Given the description of an element on the screen output the (x, y) to click on. 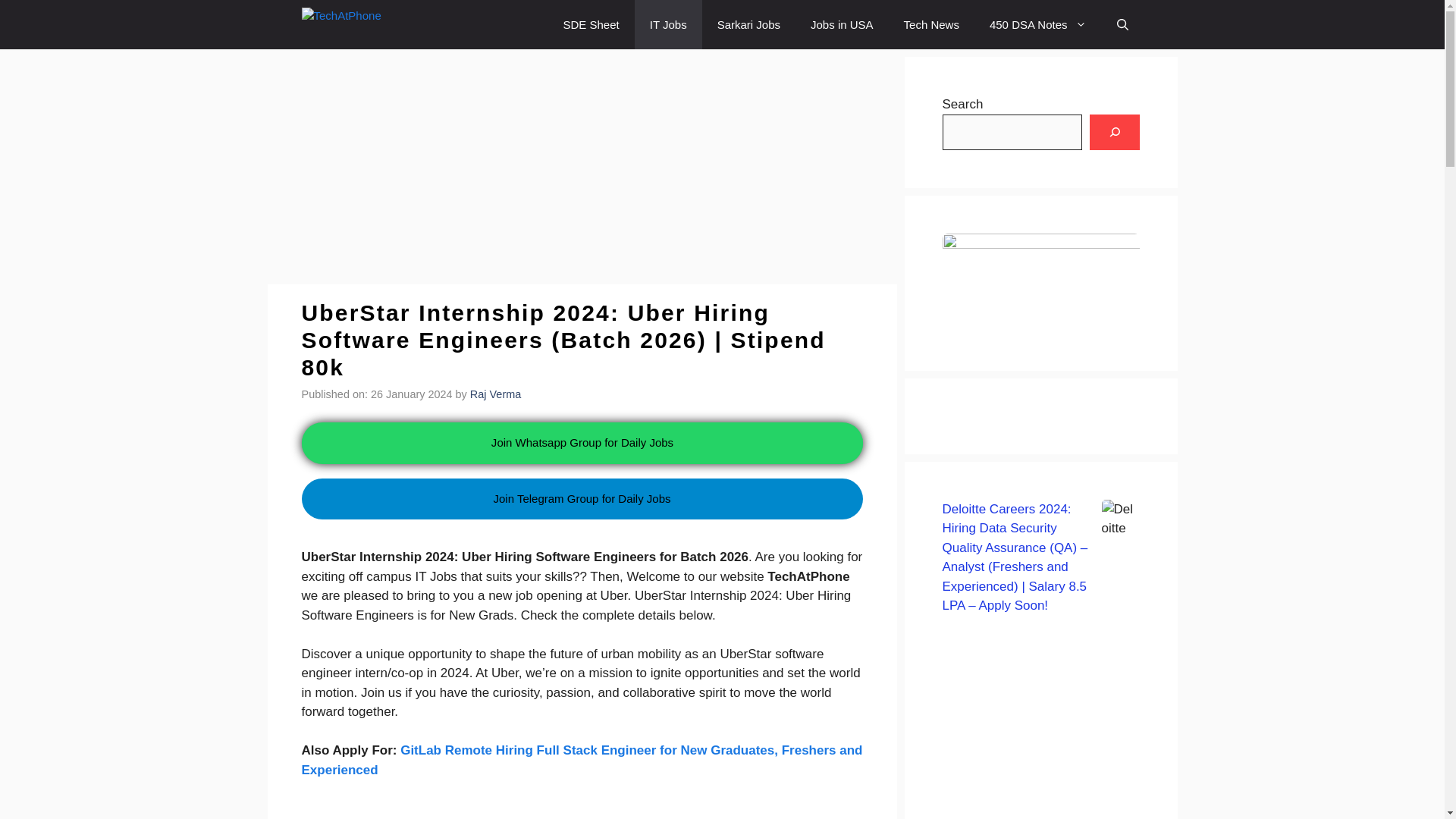
Join Whatsapp Group for Daily Jobs (582, 441)
Tech News (931, 24)
Join Whatsapp Group for Daily Jobs (577, 443)
IT Jobs (667, 24)
View all posts by Raj Verma (495, 394)
Raj Verma (495, 394)
TechAtPhone (379, 24)
Jobs in USA (841, 24)
450 DSA Notes (1038, 24)
SDE Sheet (591, 24)
Sarkari Jobs (747, 24)
Join Telegram Group for Daily Jobs (582, 526)
Join Telegram Group for Daily Jobs (582, 499)
